Given the description of an element on the screen output the (x, y) to click on. 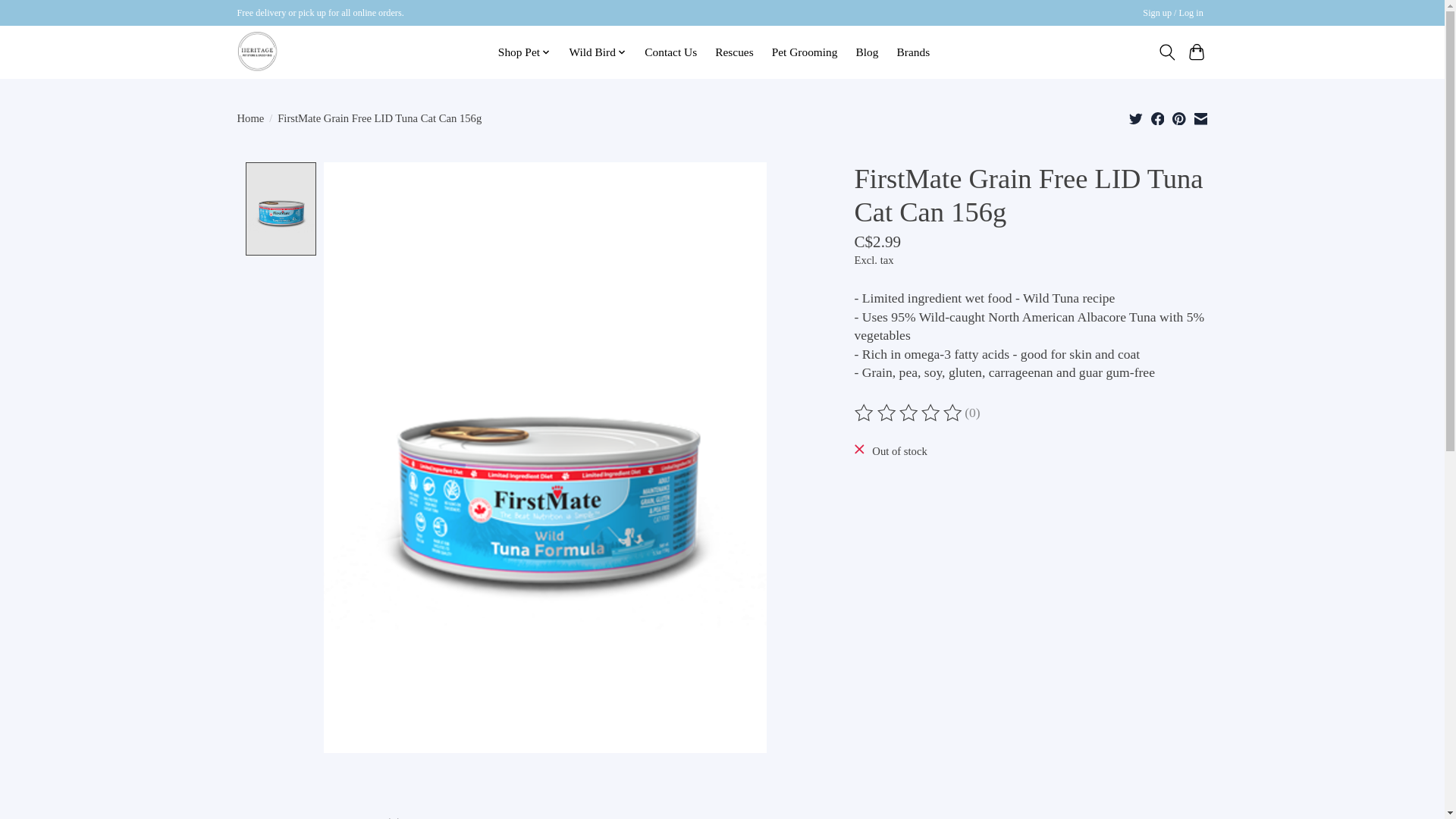
Share on Pinterest (1178, 118)
Rescues (734, 52)
Shop Pet (524, 52)
Share on Twitter (1135, 118)
Share by Email (1200, 118)
Share on Facebook (1157, 118)
Contact Us (670, 52)
Pet Grooming (804, 52)
Heritage Pet and Garden (256, 51)
Blog (866, 52)
Brands (912, 52)
Wild Bird (597, 52)
My account (1173, 13)
